Given the description of an element on the screen output the (x, y) to click on. 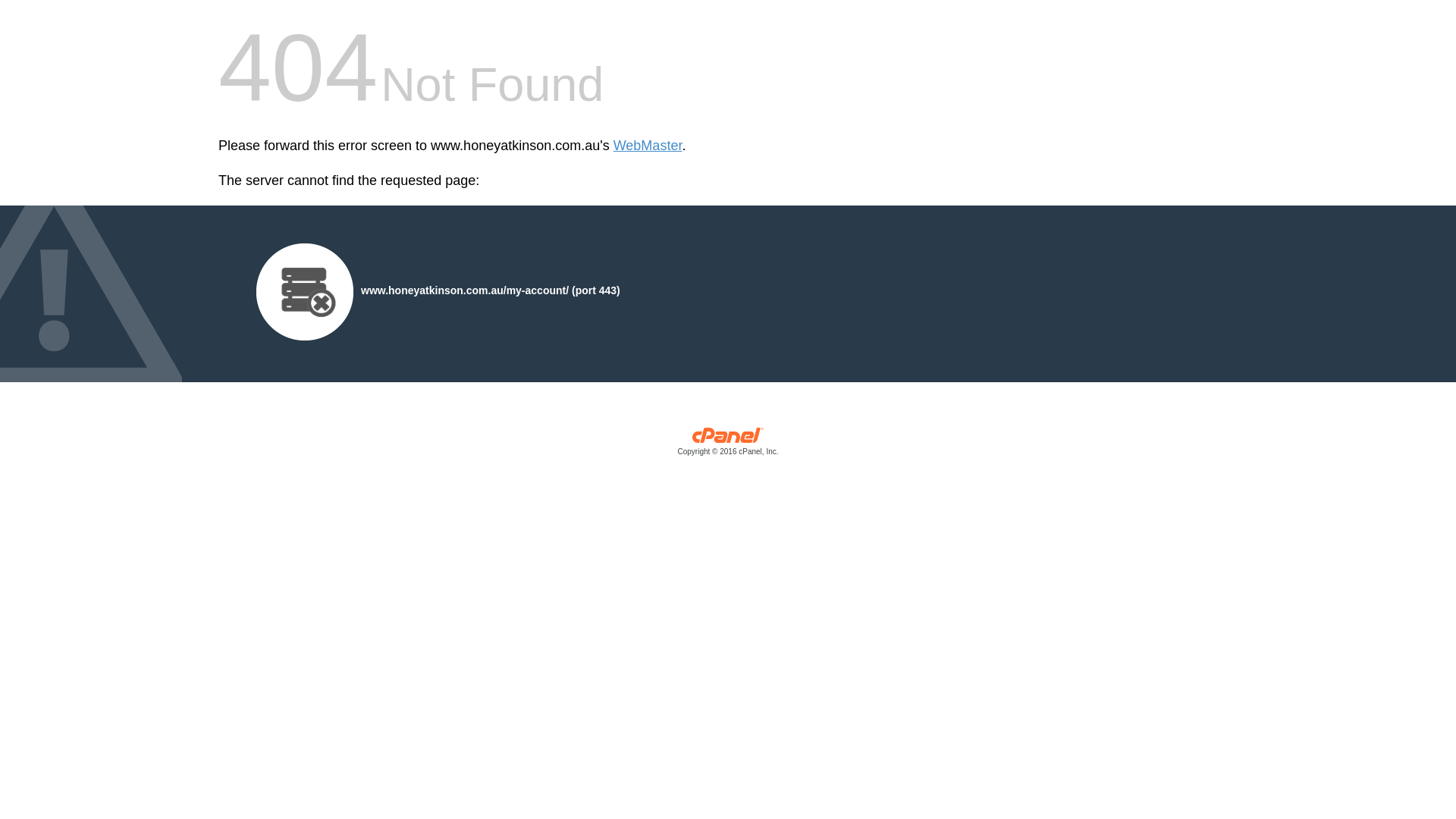
WebMaster Element type: text (647, 145)
